Given the description of an element on the screen output the (x, y) to click on. 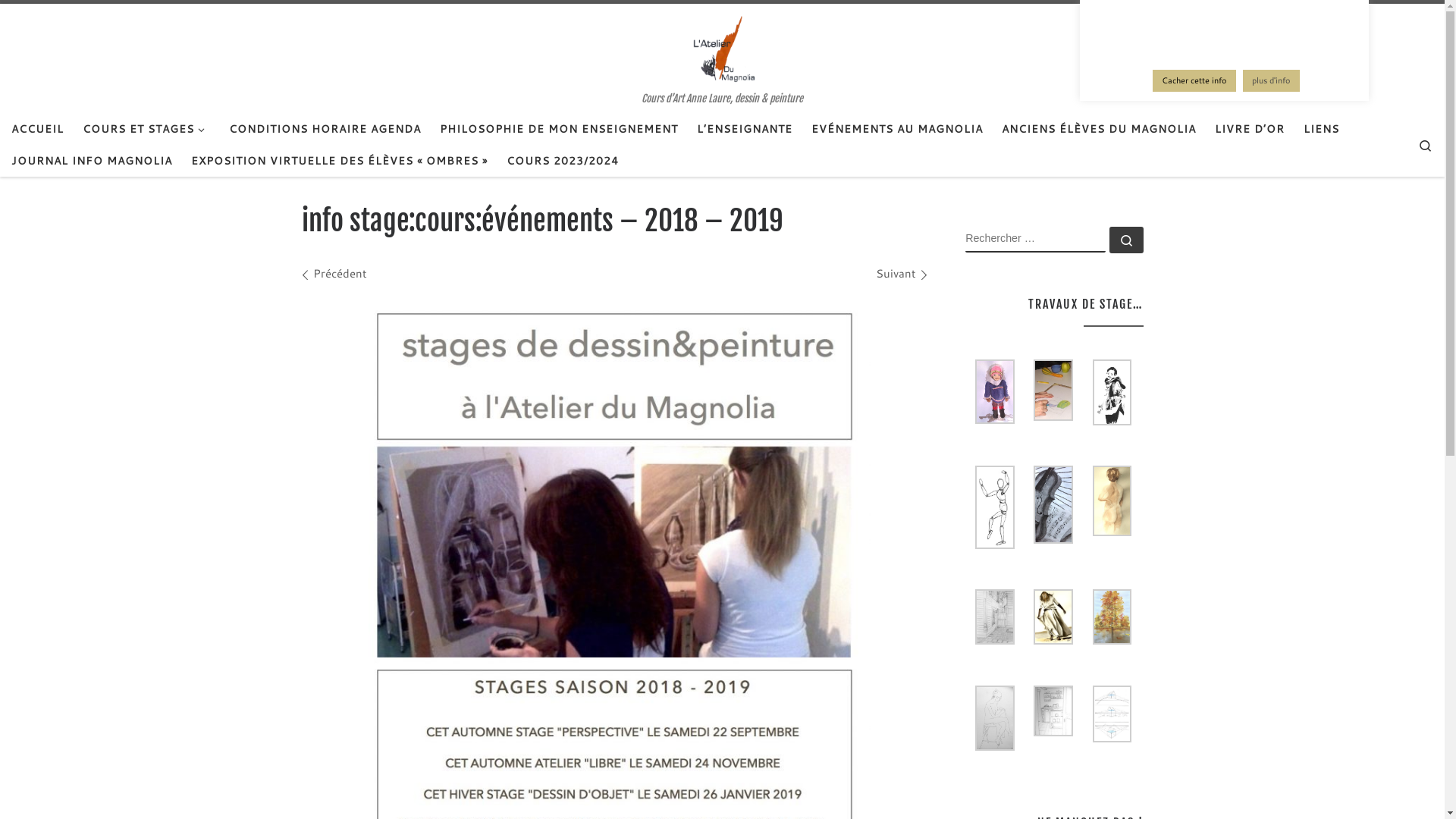
PHILOSOPHIE DE MON ENSEIGNEMENT Element type: text (559, 128)
Suivant Element type: text (900, 273)
Search Element type: text (1424, 144)
JOURNAL INFO MAGNOLIA Element type: text (91, 160)
LIENS Element type: text (1321, 128)
Passer au contenu Element type: text (68, 21)
CONDITIONS HORAIRE AGENDA Element type: text (325, 128)
plus d'info Element type: text (1270, 80)
ACCUEIL Element type: text (37, 128)
COURS ET STAGES Element type: text (146, 128)
Cacher cette info Element type: text (1194, 80)
COURS 2023/2024 Element type: text (563, 160)
